Given the description of an element on the screen output the (x, y) to click on. 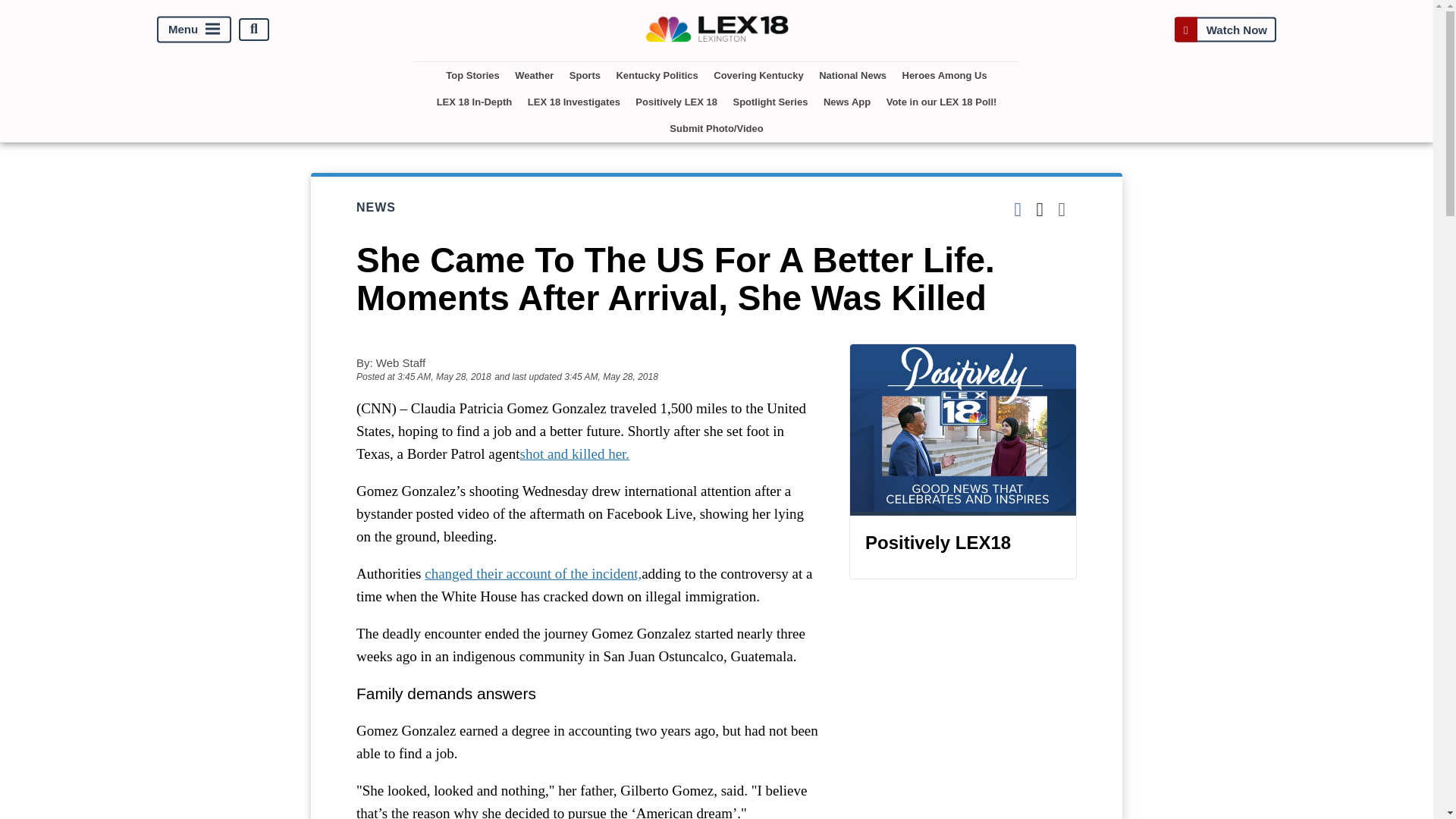
Watch Now (1224, 29)
Menu (194, 28)
